Given the description of an element on the screen output the (x, y) to click on. 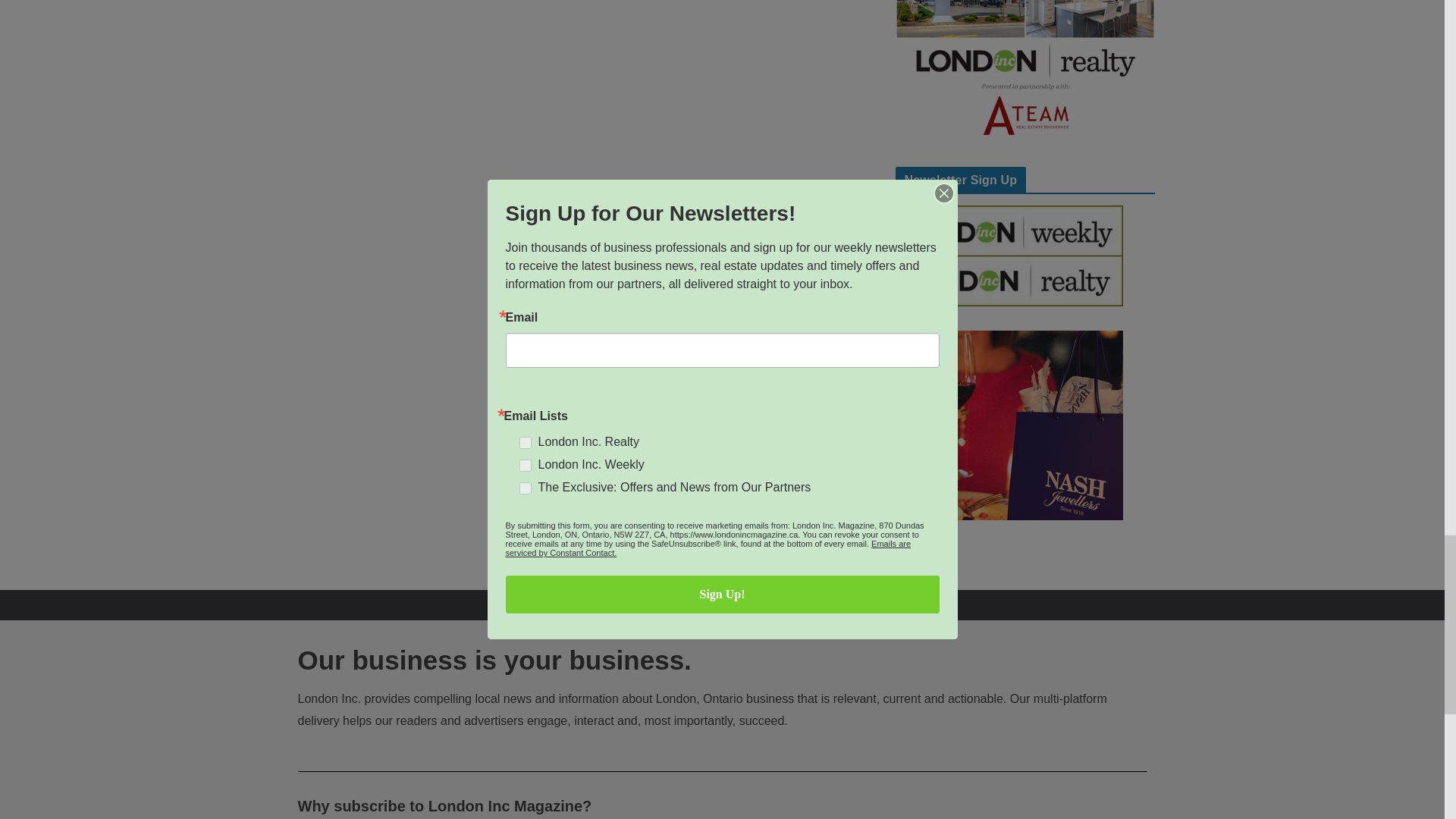
London Inc. Realty (1024, 71)
